Given the description of an element on the screen output the (x, y) to click on. 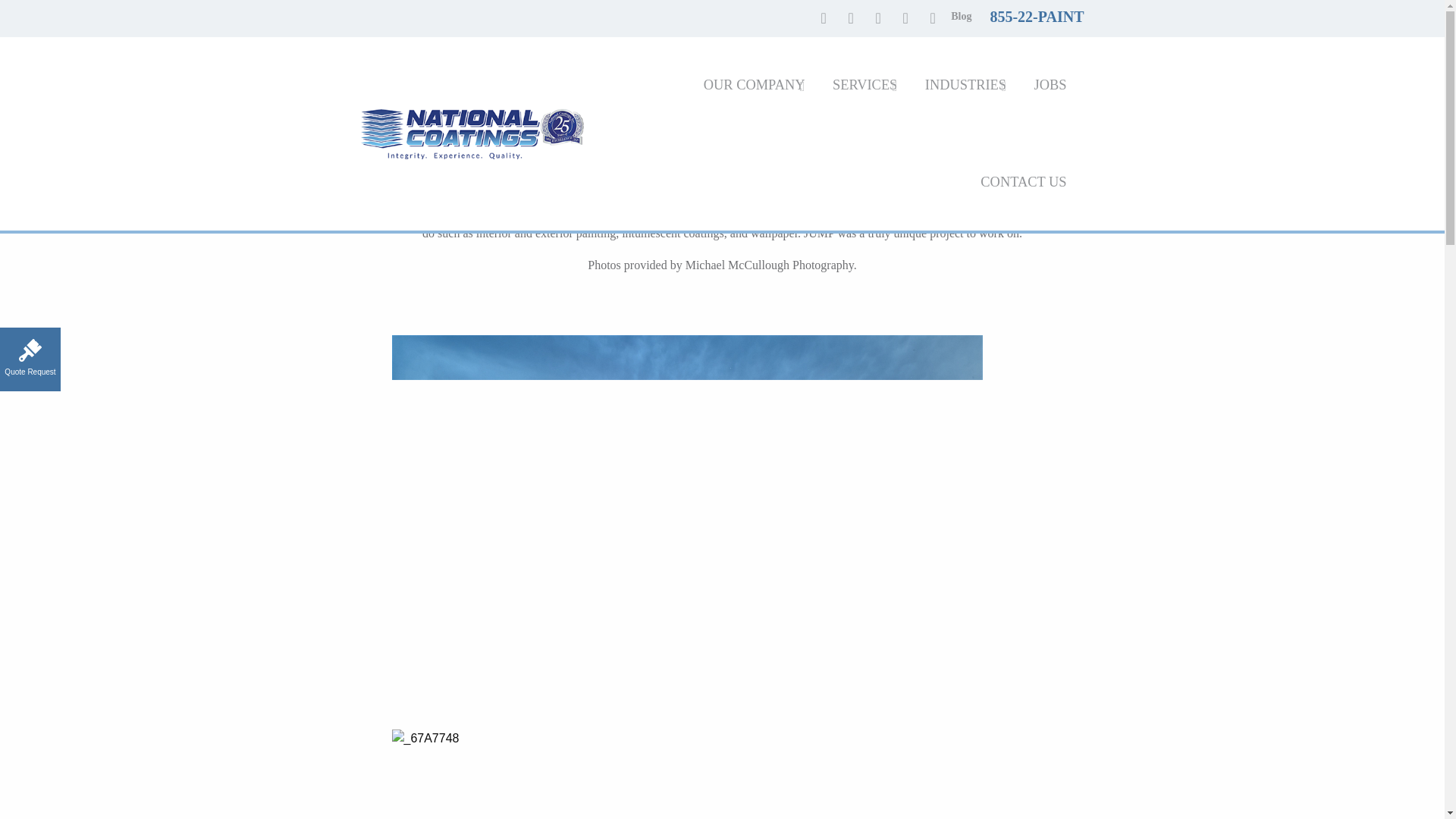
OUR COMPANY (753, 84)
Blog (960, 18)
855-22-PAINT (1036, 18)
